Given the description of an element on the screen output the (x, y) to click on. 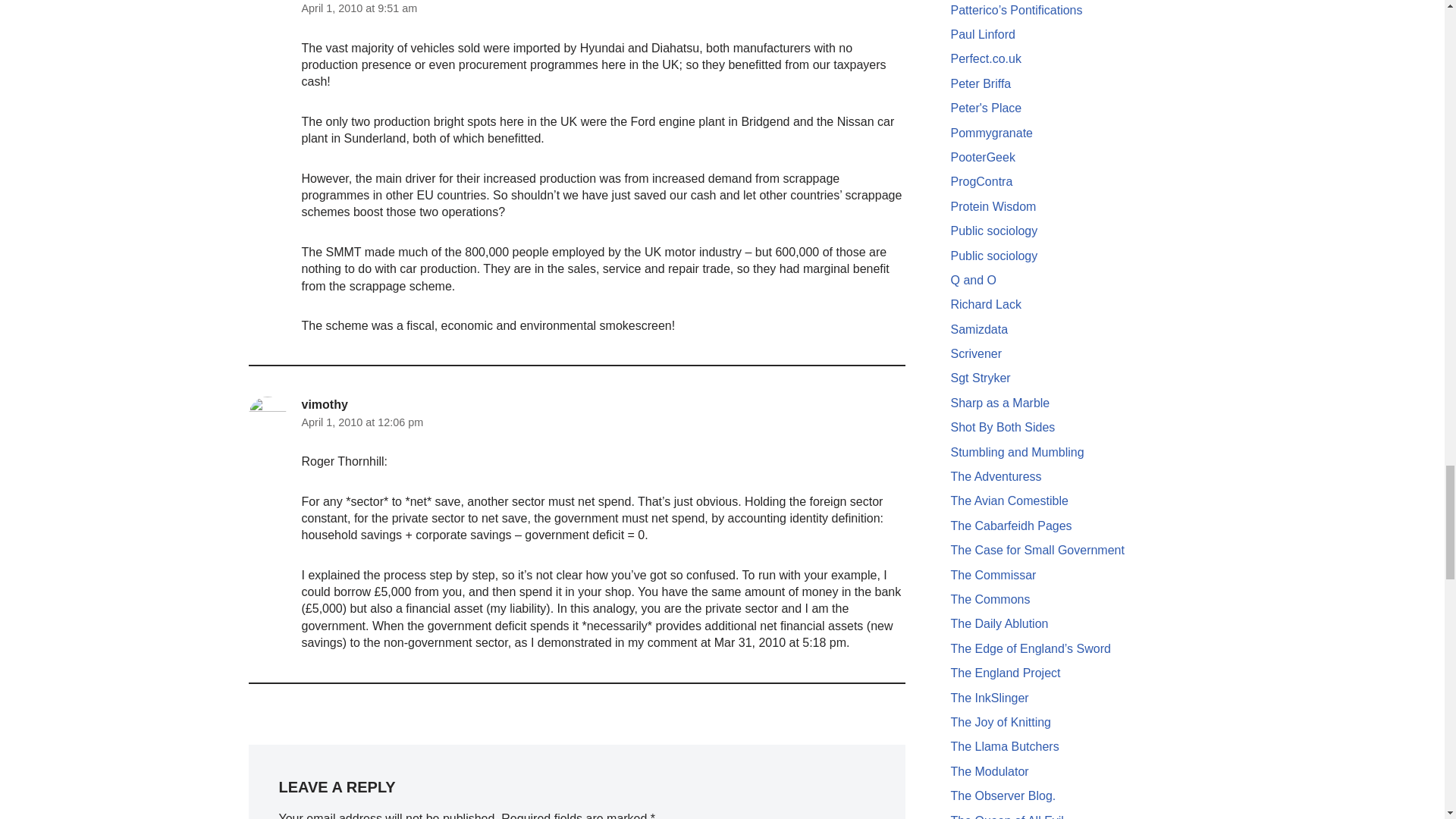
April 1, 2010 at 12:06 pm (362, 422)
April 1, 2010 at 9:51 am (359, 8)
vimothy (324, 404)
Even more shite than me apparently (994, 230)
